Given the description of an element on the screen output the (x, y) to click on. 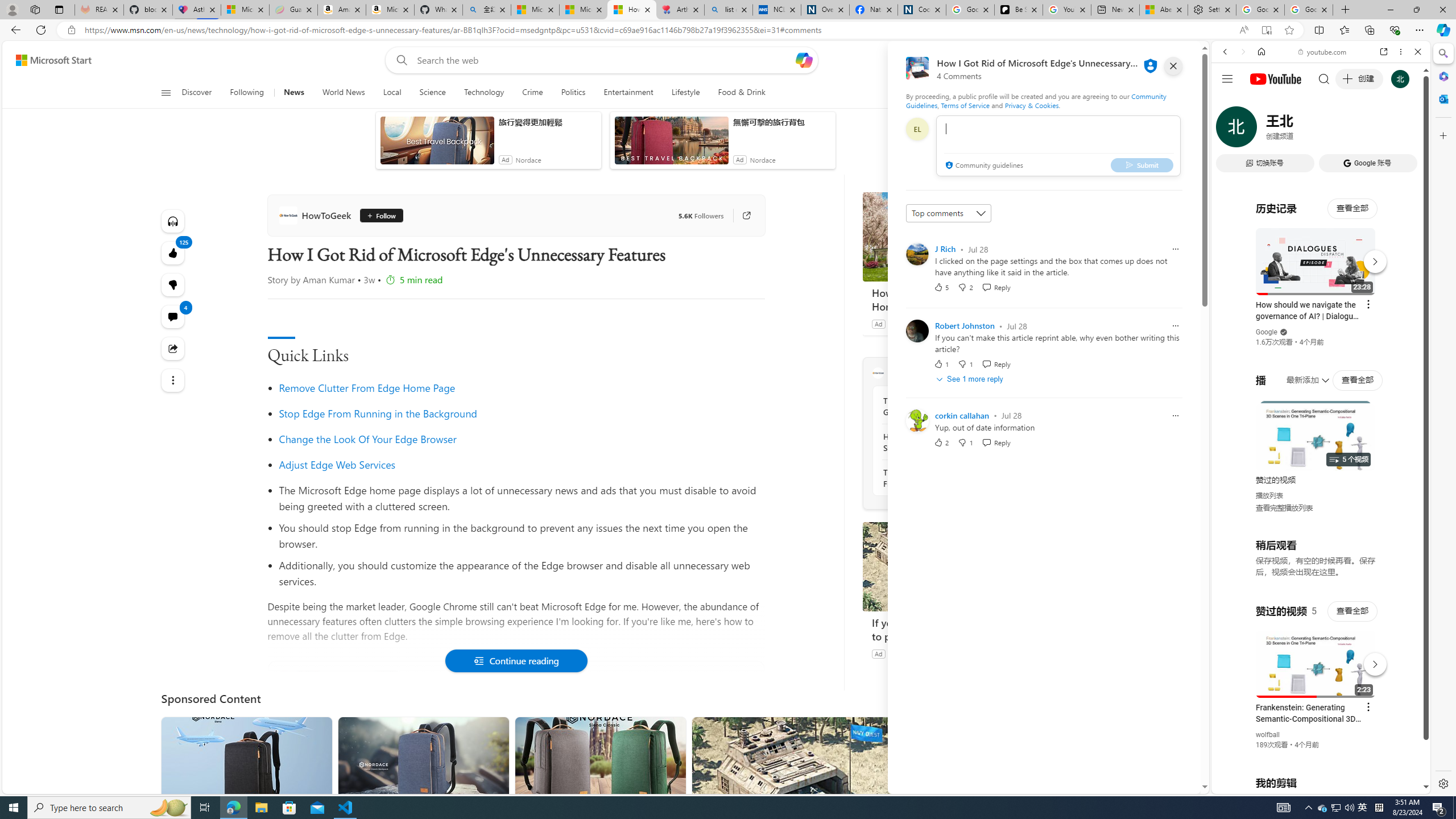
Show More Music (1390, 310)
Personal Profile (12, 9)
Microsoft Start (583, 9)
Tab actions menu (58, 9)
WEB   (1230, 130)
These Are the Best Sites for DRM-Free eBooks and Comics (944, 477)
See more (1027, 730)
